Given the description of an element on the screen output the (x, y) to click on. 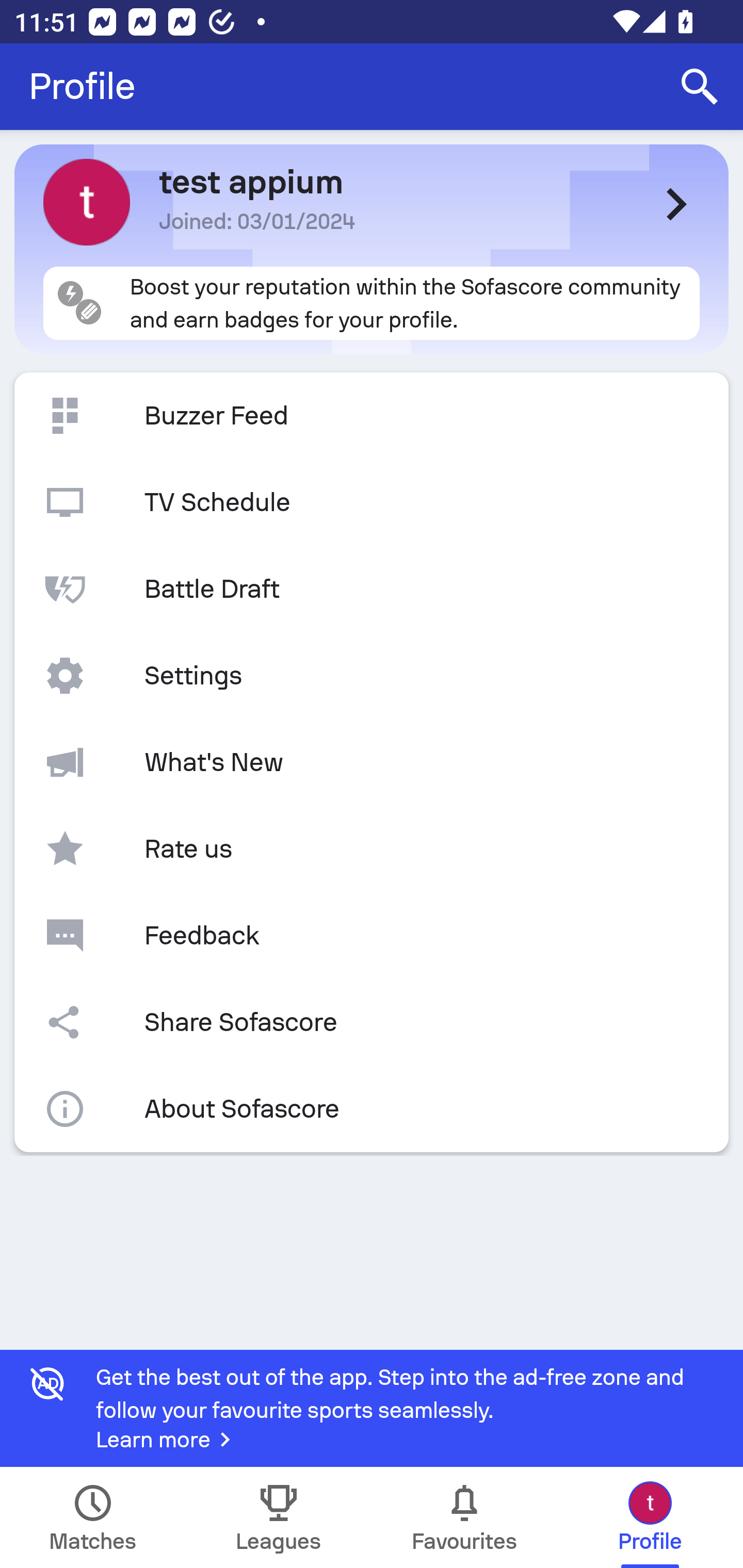
Profile (81, 86)
Search (699, 86)
Buzzer Feed (371, 416)
TV Schedule (371, 502)
Battle Draft (371, 588)
Settings (371, 675)
What's New (371, 762)
Rate us (371, 848)
Feedback (371, 935)
Share Sofascore (371, 1022)
About Sofascore (371, 1109)
Matches (92, 1517)
Leagues (278, 1517)
Favourites (464, 1517)
